Given the description of an element on the screen output the (x, y) to click on. 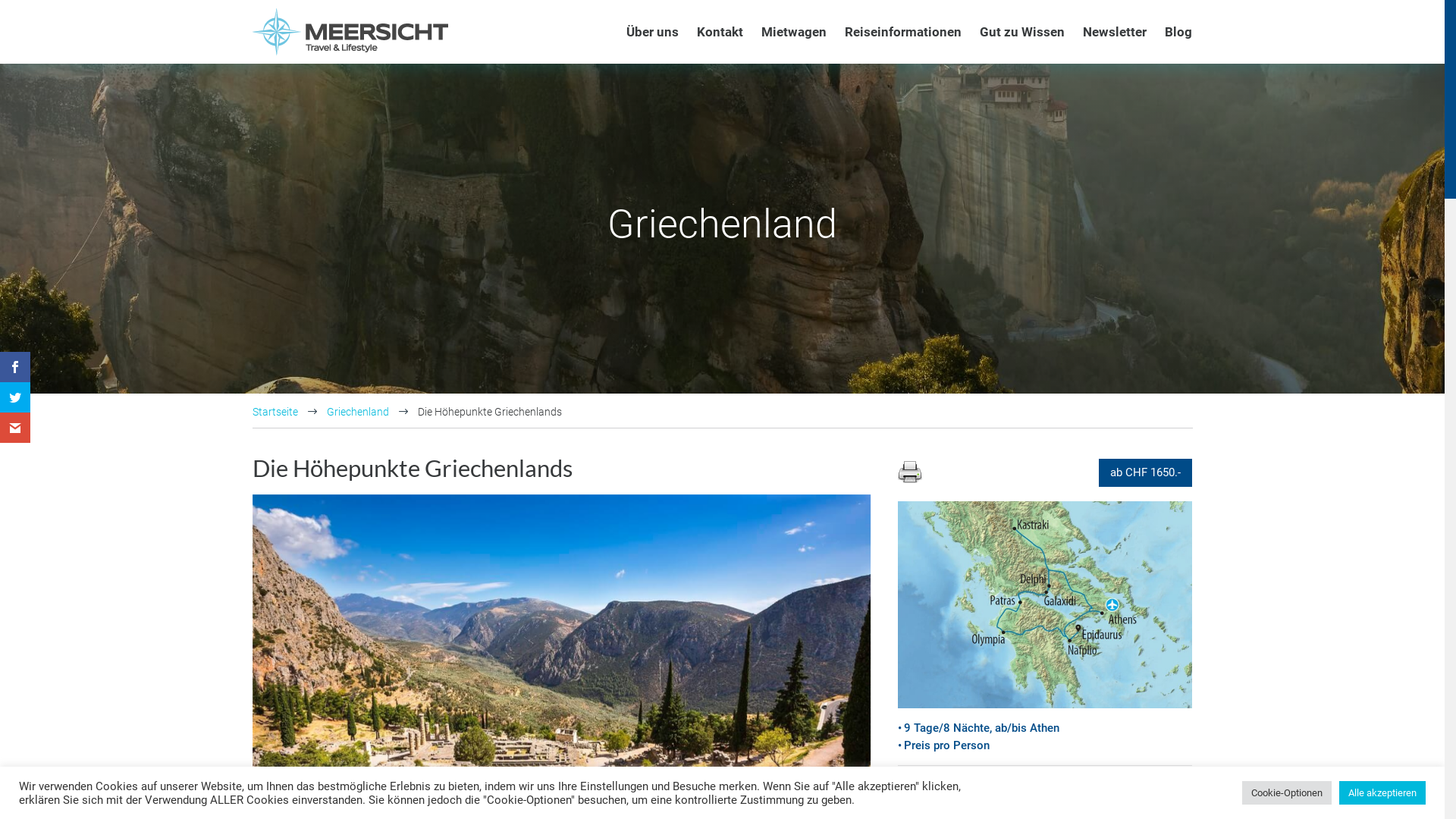
Cookie-Optionen Element type: text (1286, 792)
Offertenanfrage Element type: text (1044, 795)
Gut zu Wissen Element type: text (1021, 31)
Blog Element type: text (1178, 31)
Kontakt Element type: text (719, 31)
Reiseinformationen Element type: text (902, 31)
Startseite Element type: text (274, 411)
Griechenland Element type: text (357, 411)
Mietwagen Element type: text (793, 31)
Newsletter Element type: text (1114, 31)
Alle akzeptieren Element type: text (1382, 792)
